Given the description of an element on the screen output the (x, y) to click on. 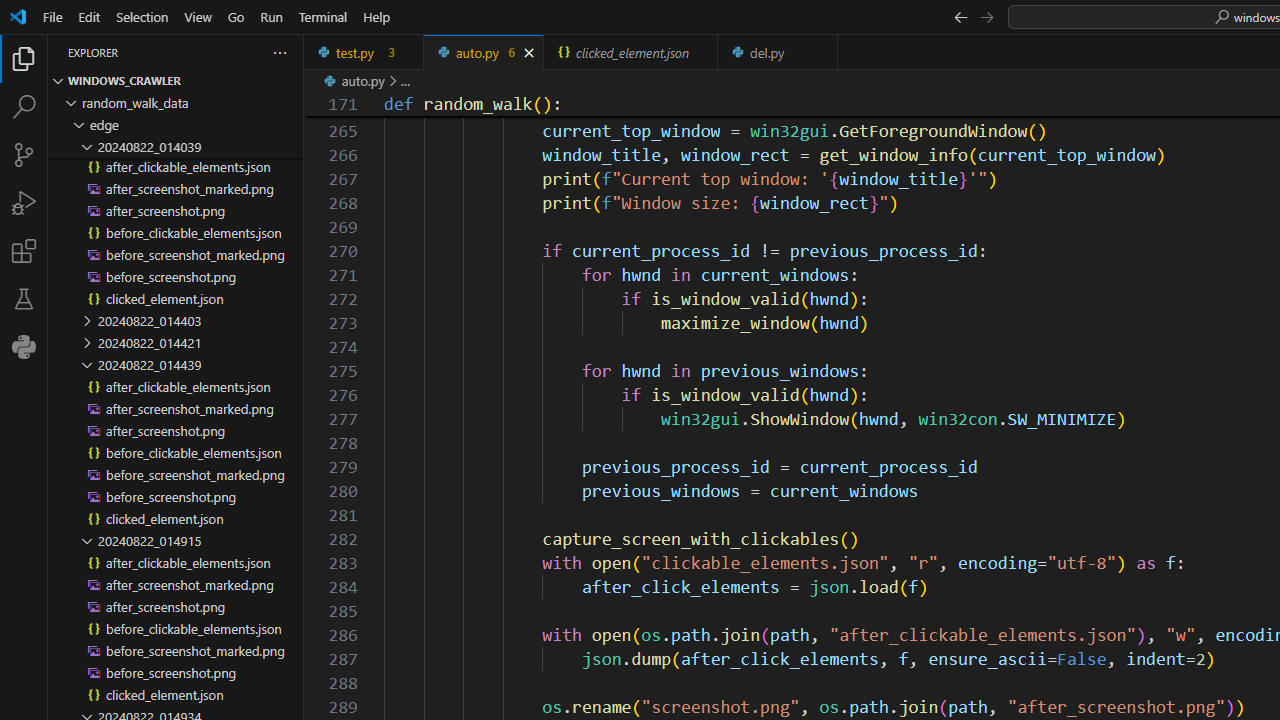
Terminal (322, 16)
Views and More Actions... (279, 52)
test.py (363, 52)
Selection (141, 16)
Explorer (Ctrl+Shift+E) (24, 58)
Extensions (Ctrl+Shift+X) (24, 250)
Explorer Section: windows_crawler (175, 80)
View (198, 16)
Python (24, 346)
Go Back (Alt+LeftArrow) (960, 16)
Close (Ctrl+F4) (823, 52)
Testing (24, 299)
